Given the description of an element on the screen output the (x, y) to click on. 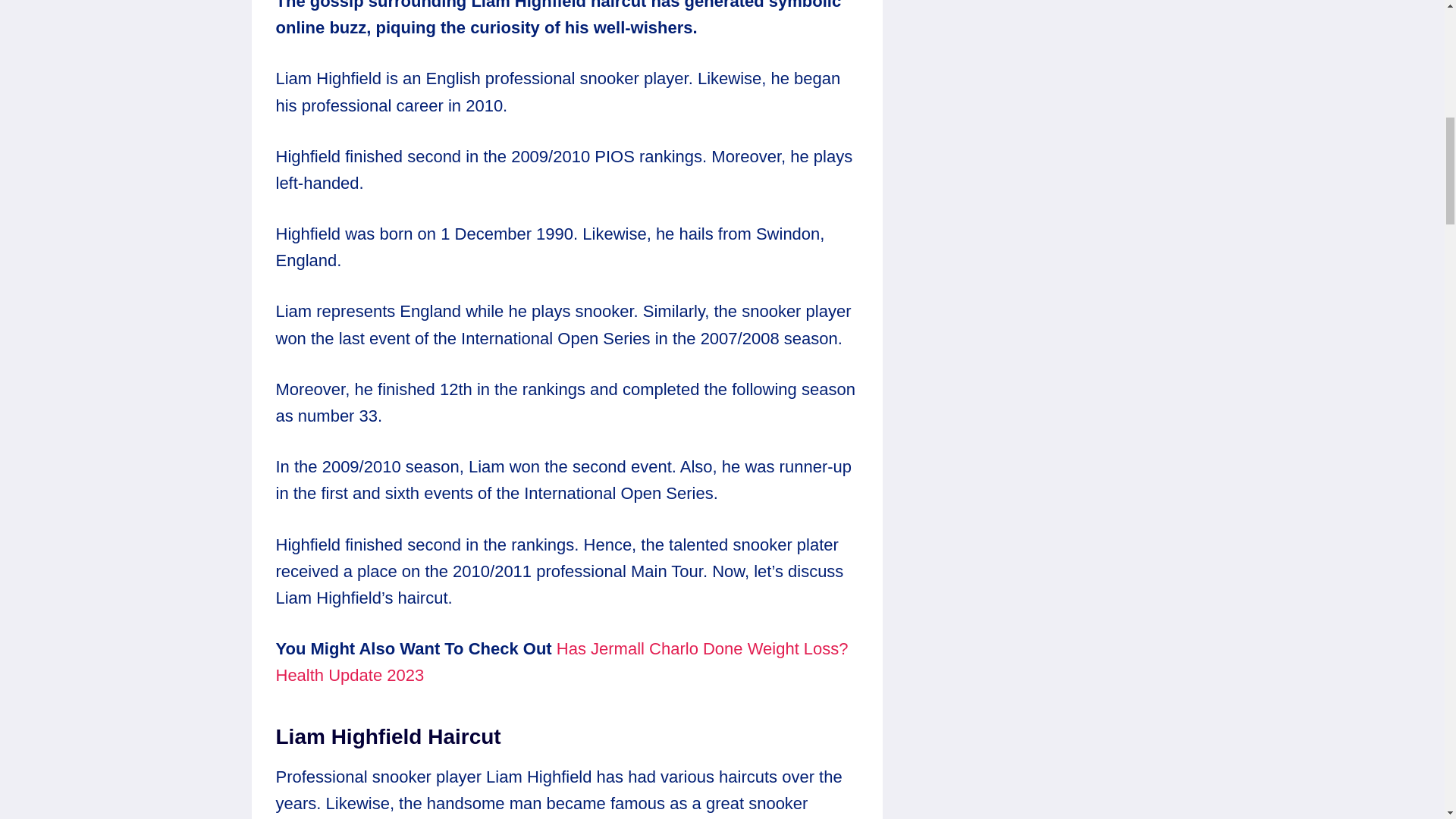
Has Jermall Charlo Done Weight Loss? Health Update 2023 (562, 661)
